Given the description of an element on the screen output the (x, y) to click on. 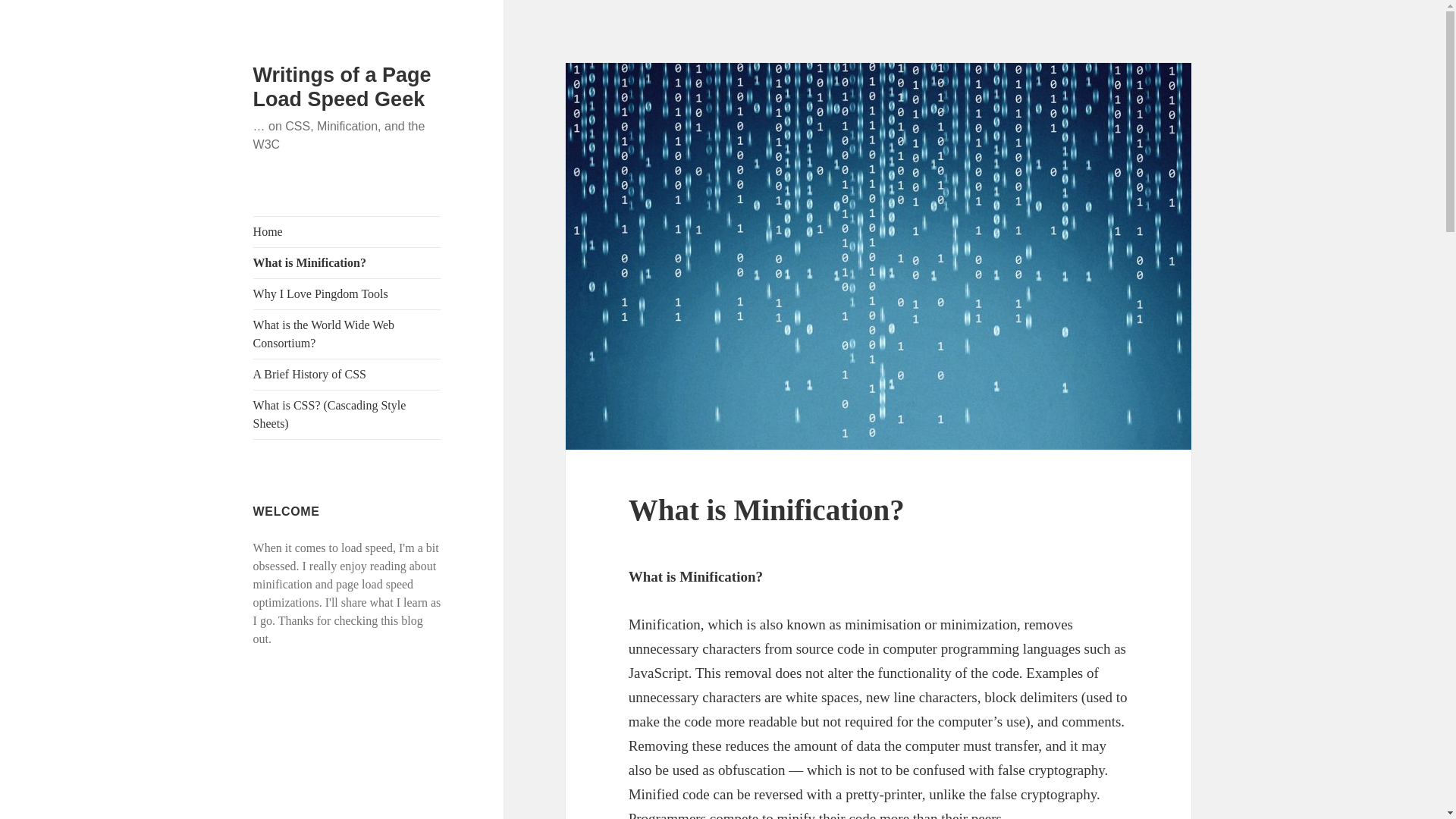
Why I Love Pingdom Tools (347, 294)
What is Minification? (347, 263)
A Brief History of CSS (347, 374)
What is the World Wide Web Consortium? (347, 334)
Writings of a Page Load Speed Geek (341, 86)
Home (347, 232)
